Given the description of an element on the screen output the (x, y) to click on. 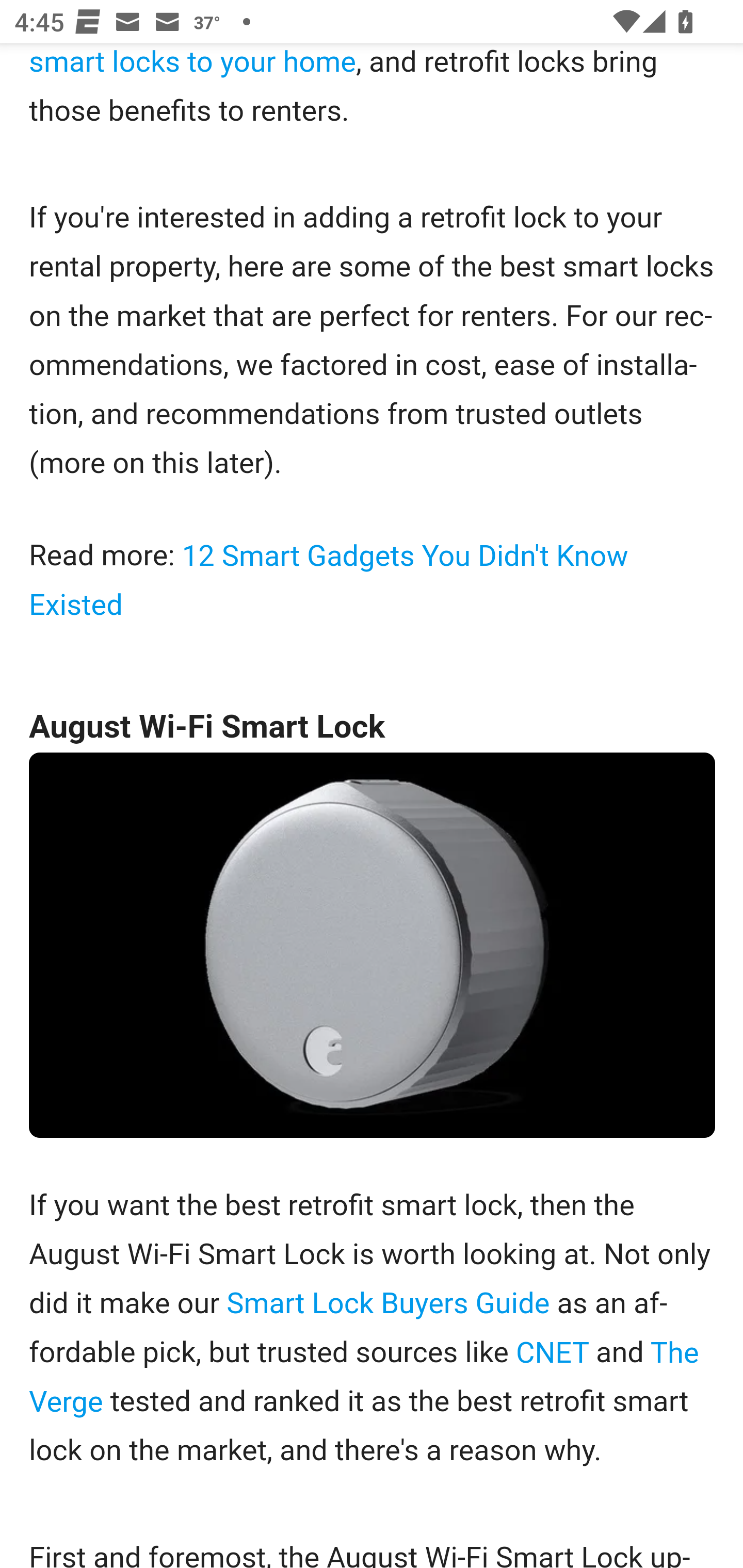
reasons to add smart locks to your home (335, 64)
12 Smart Gadgets You Didn't Know Existed (329, 580)
Smart Lock Buyers Guide (387, 1304)
The Verge (364, 1377)
CNET (551, 1352)
